Given the description of an element on the screen output the (x, y) to click on. 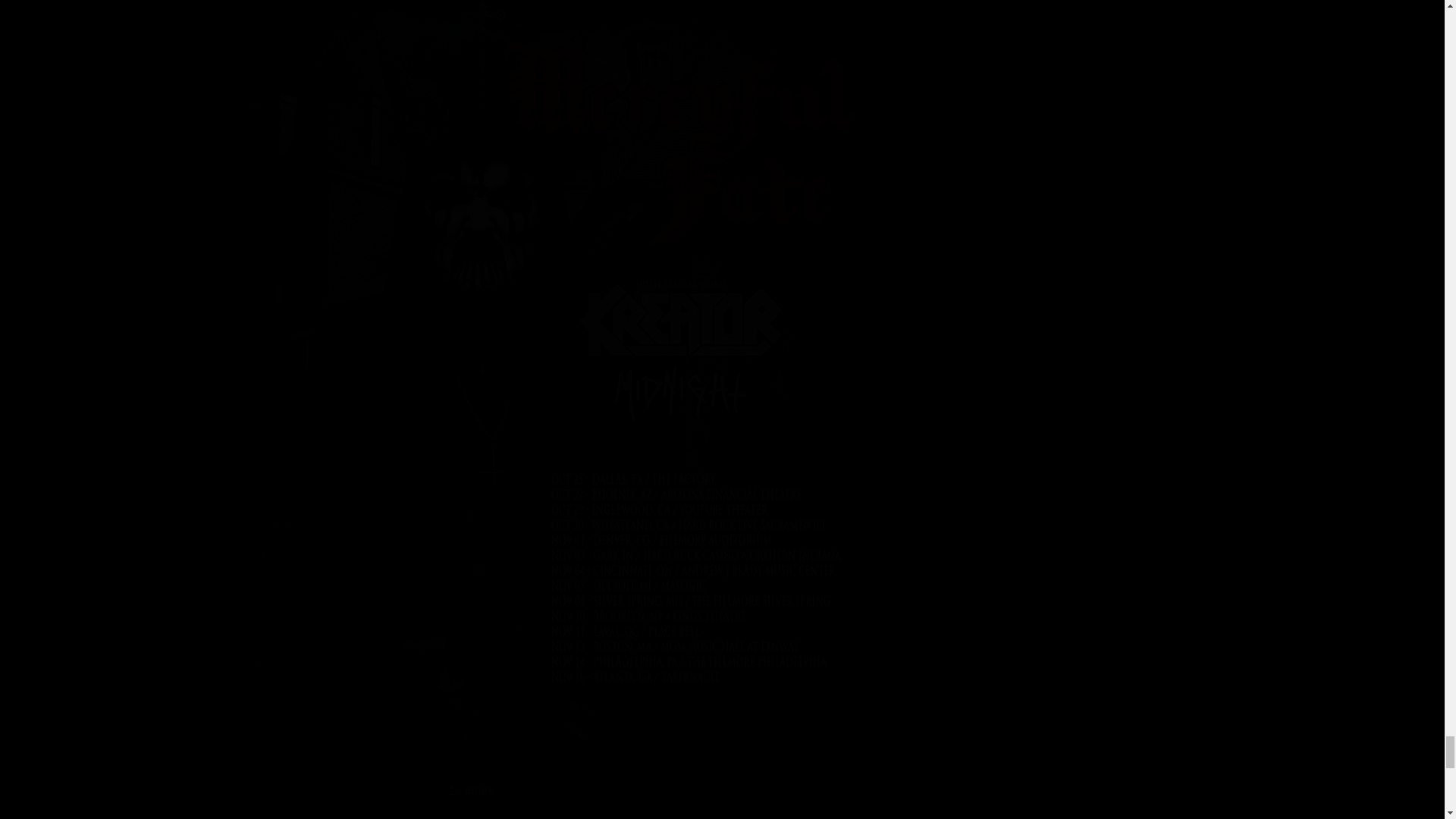
Share (721, 789)
